Given the description of an element on the screen output the (x, y) to click on. 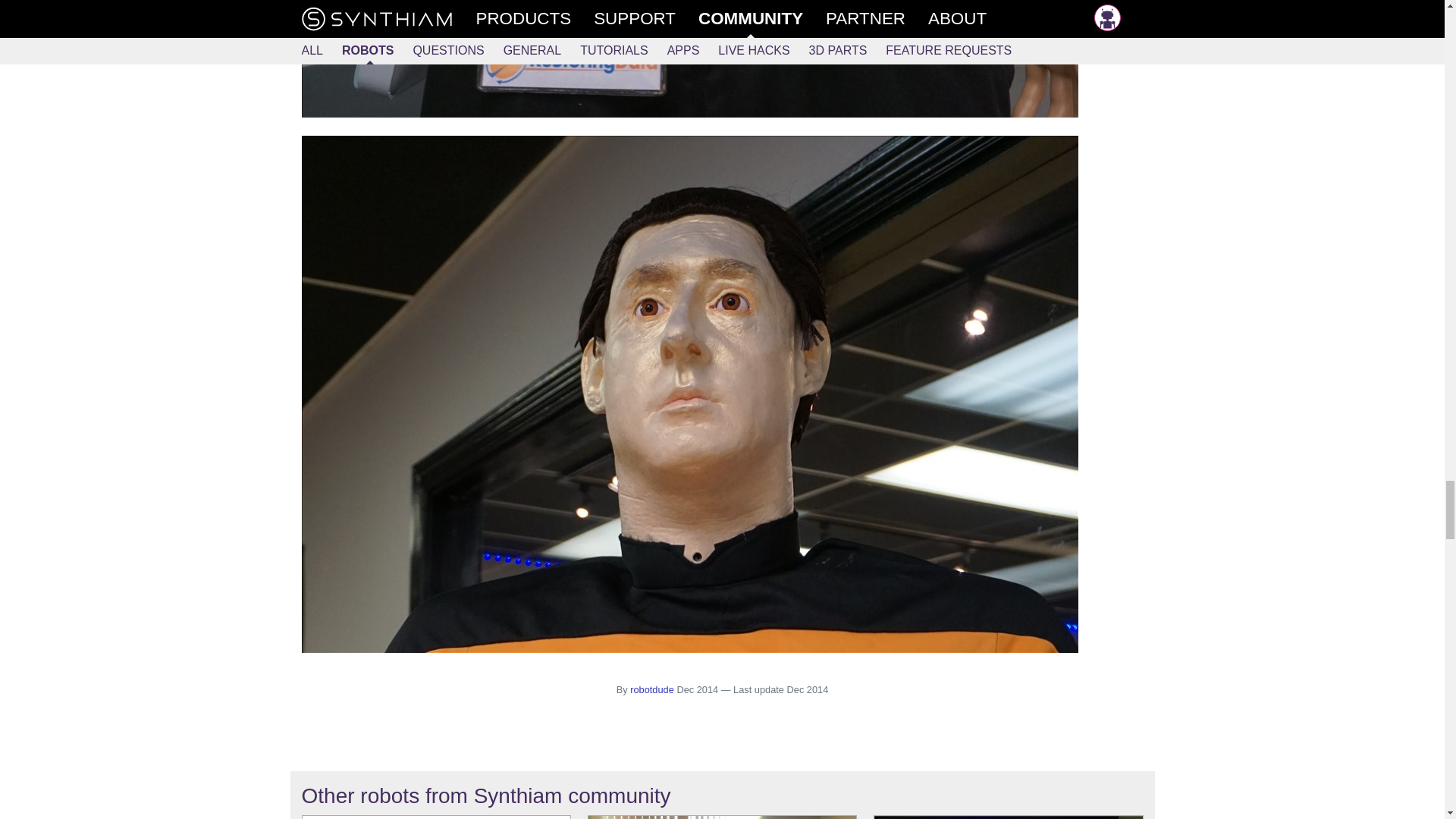
2014-12-10 13:11 UTC (697, 689)
robotdude (652, 689)
2014-12-12 16:20 UTC (807, 689)
